Given the description of an element on the screen output the (x, y) to click on. 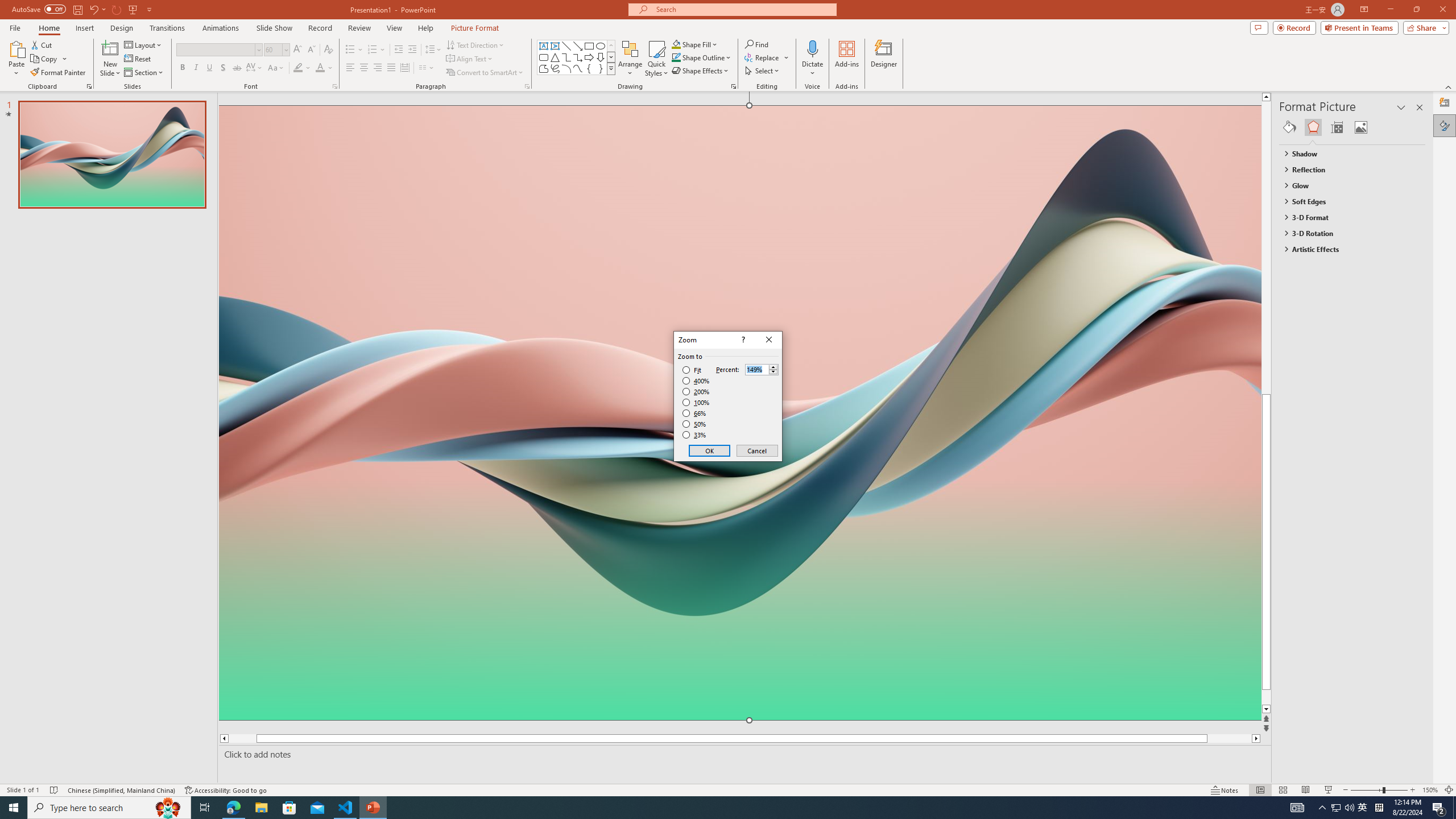
3-D Rotation (1347, 232)
Oval (600, 45)
Soft Edges (1347, 201)
Bold (182, 67)
Shapes (611, 68)
Task Pane Options (1400, 107)
Center (363, 67)
Fit (691, 370)
Spell Check No Errors (54, 790)
Glow (1347, 185)
